Given the description of an element on the screen output the (x, y) to click on. 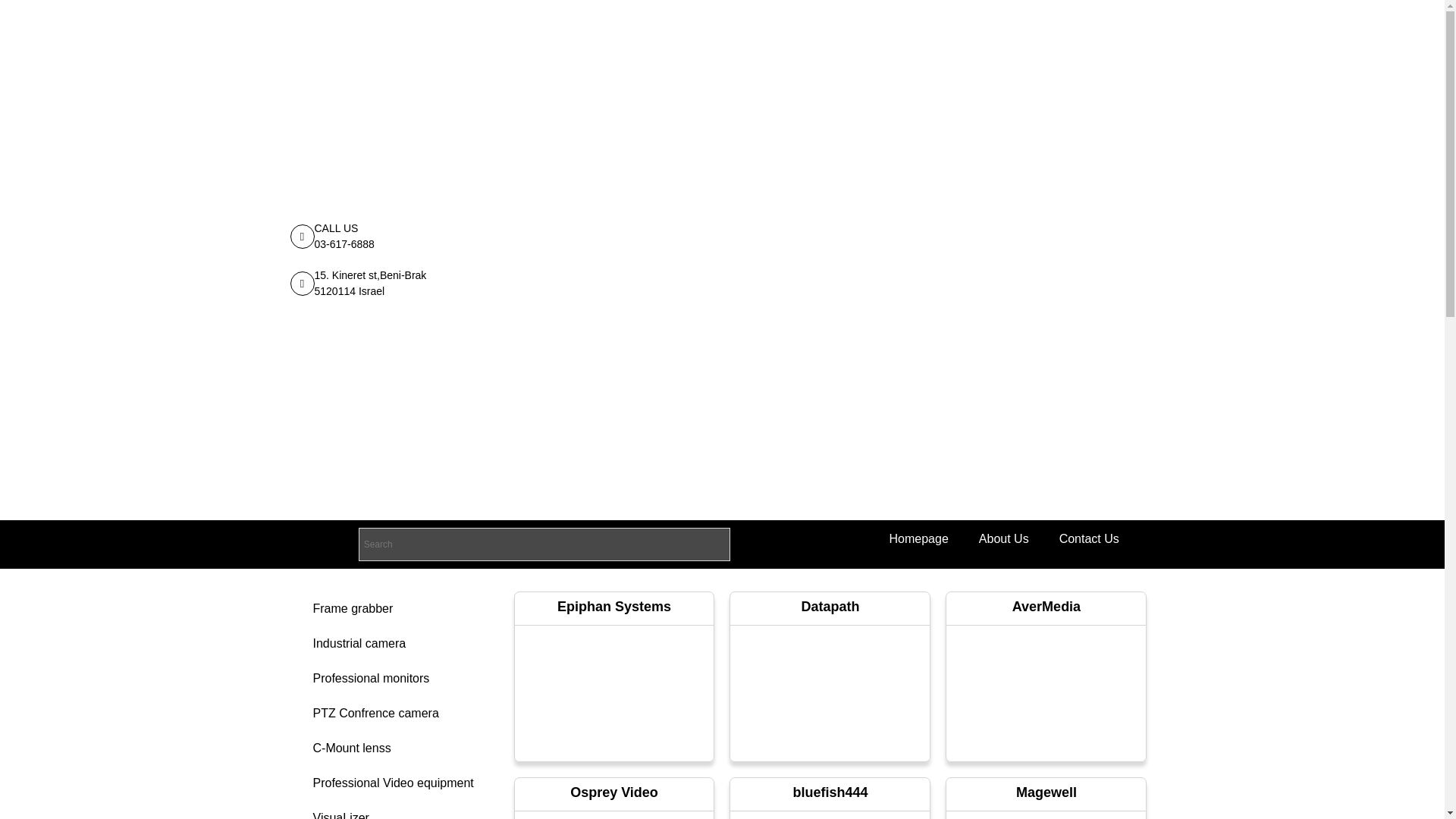
CALL US (336, 227)
Homepage (919, 538)
Contact Us (1088, 538)
About Us (1003, 538)
